Given the description of an element on the screen output the (x, y) to click on. 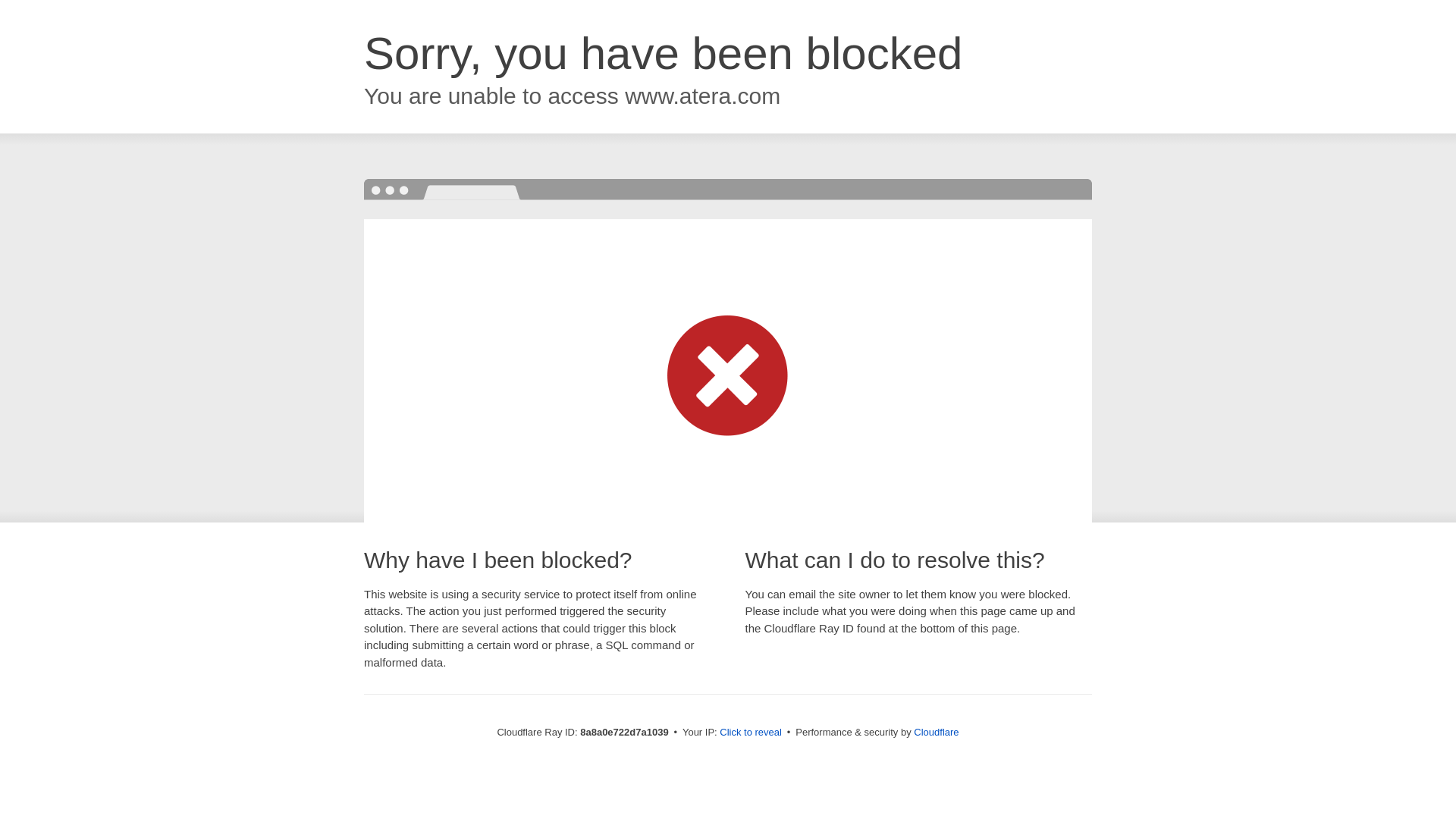
Click to reveal (750, 732)
Cloudflare (936, 731)
